Given the description of an element on the screen output the (x, y) to click on. 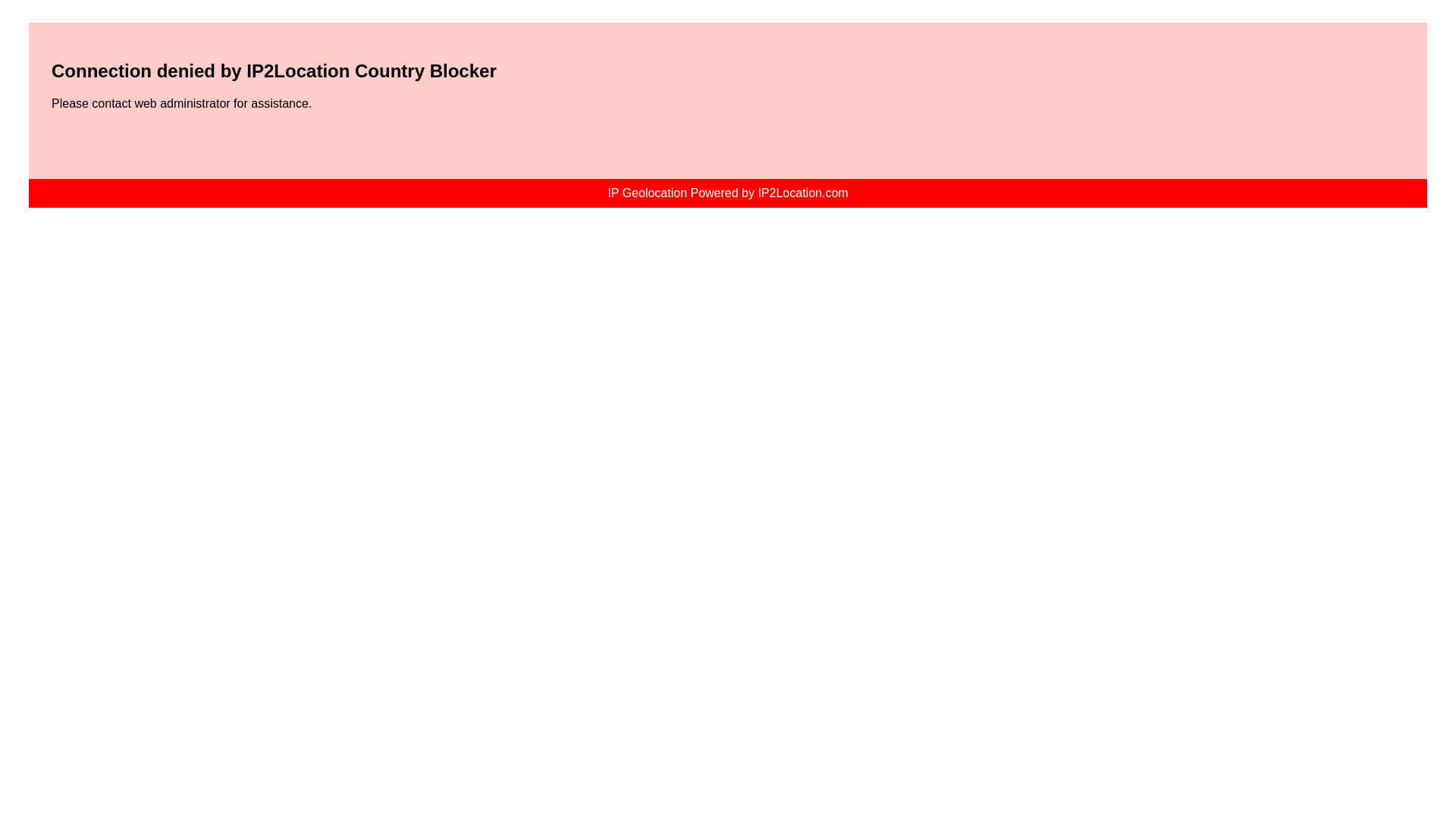
IP Geolocation Powered by IP2Location.com Element type: text (727, 192)
